Given the description of an element on the screen output the (x, y) to click on. 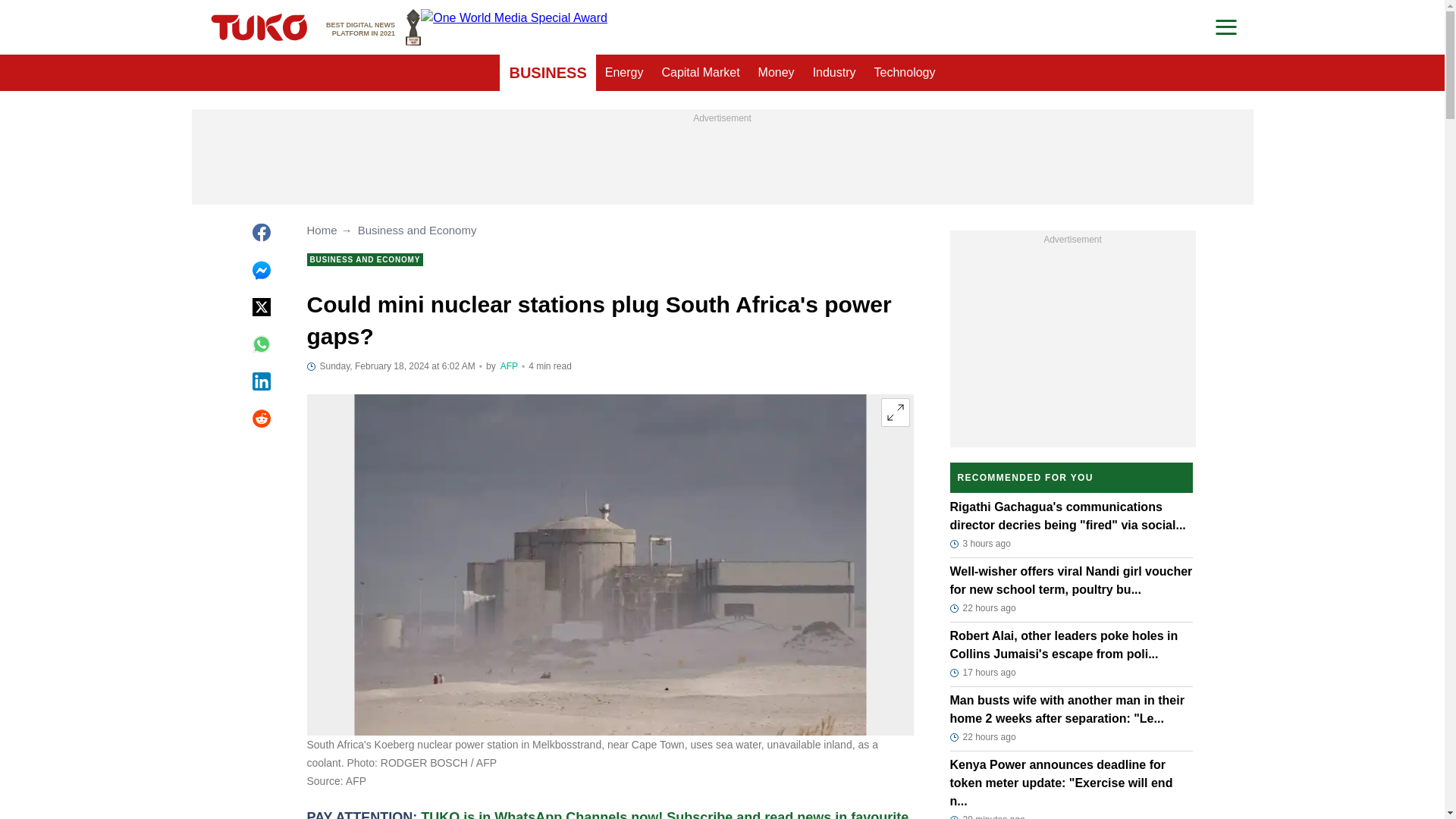
Capital Market (700, 72)
Energy (373, 27)
Author page (623, 72)
BUSINESS (509, 366)
Industry (547, 72)
Expand image (833, 72)
Technology (895, 412)
Money (904, 72)
